Given the description of an element on the screen output the (x, y) to click on. 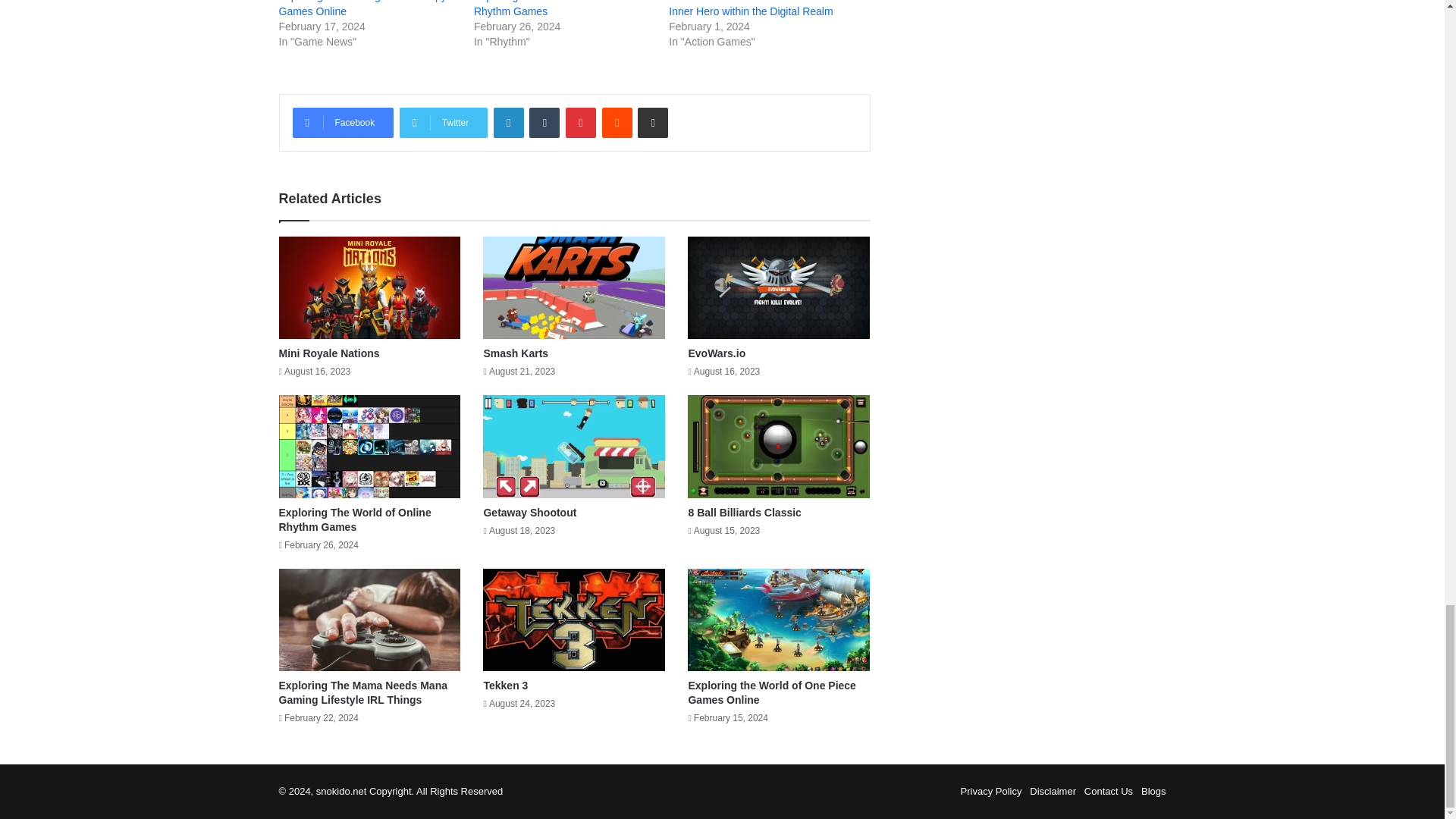
Share via Email (652, 122)
Pinterest (580, 122)
Exploring The World of Online Rhythm Games (544, 8)
Tumblr (544, 122)
Facebook (343, 122)
Reddit (616, 122)
LinkedIn (508, 122)
Twitter (442, 122)
Exploring the Thrilling World of iSpy Games Online (362, 8)
